Given the description of an element on the screen output the (x, y) to click on. 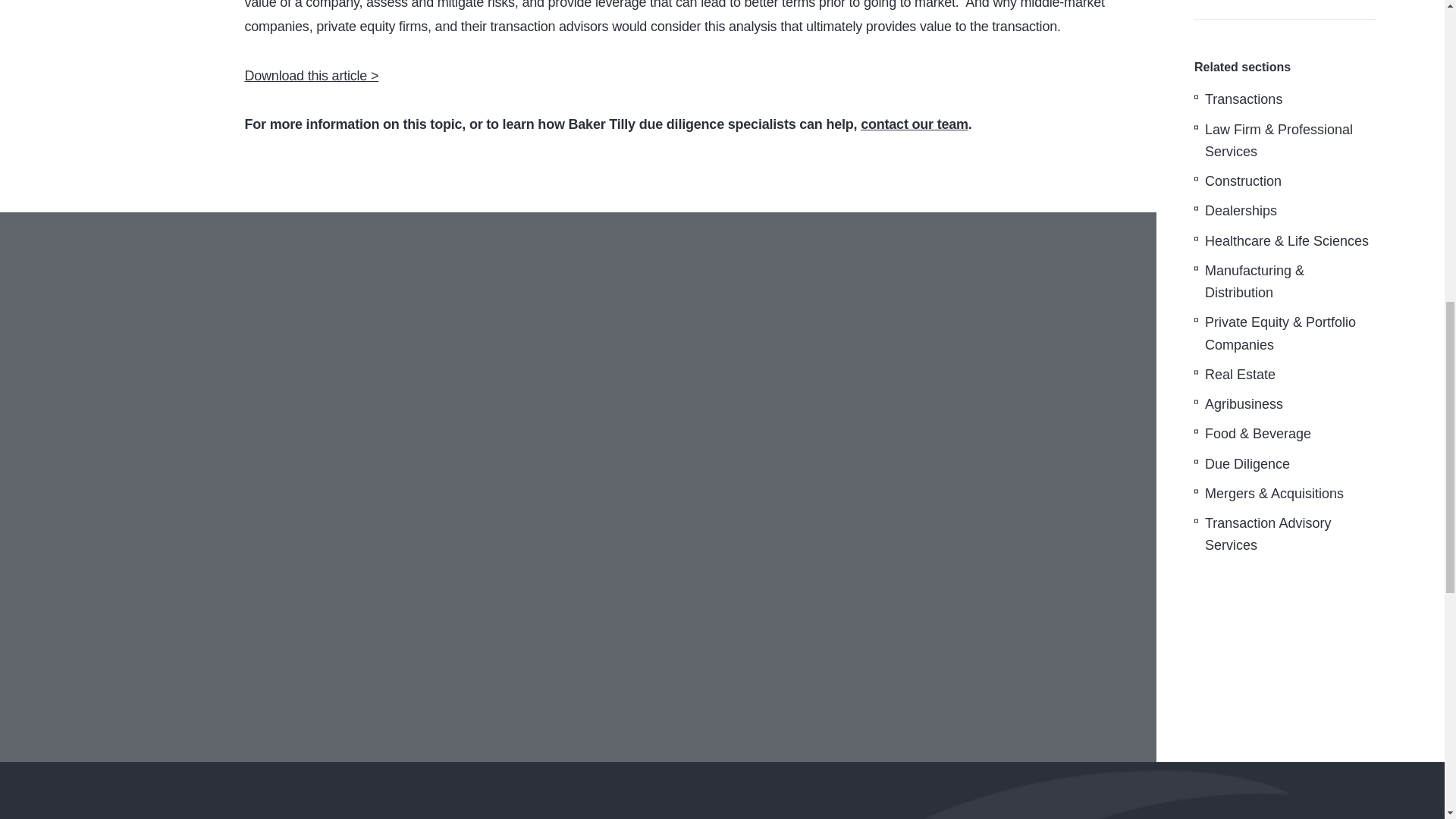
Transaction Advisory Services (1267, 533)
Real Estate (1240, 374)
Transactions (1243, 99)
Dealerships (1240, 210)
Construction (1243, 181)
contact our team (914, 124)
Due Diligence (1247, 463)
Agribusiness (1243, 404)
